Given the description of an element on the screen output the (x, y) to click on. 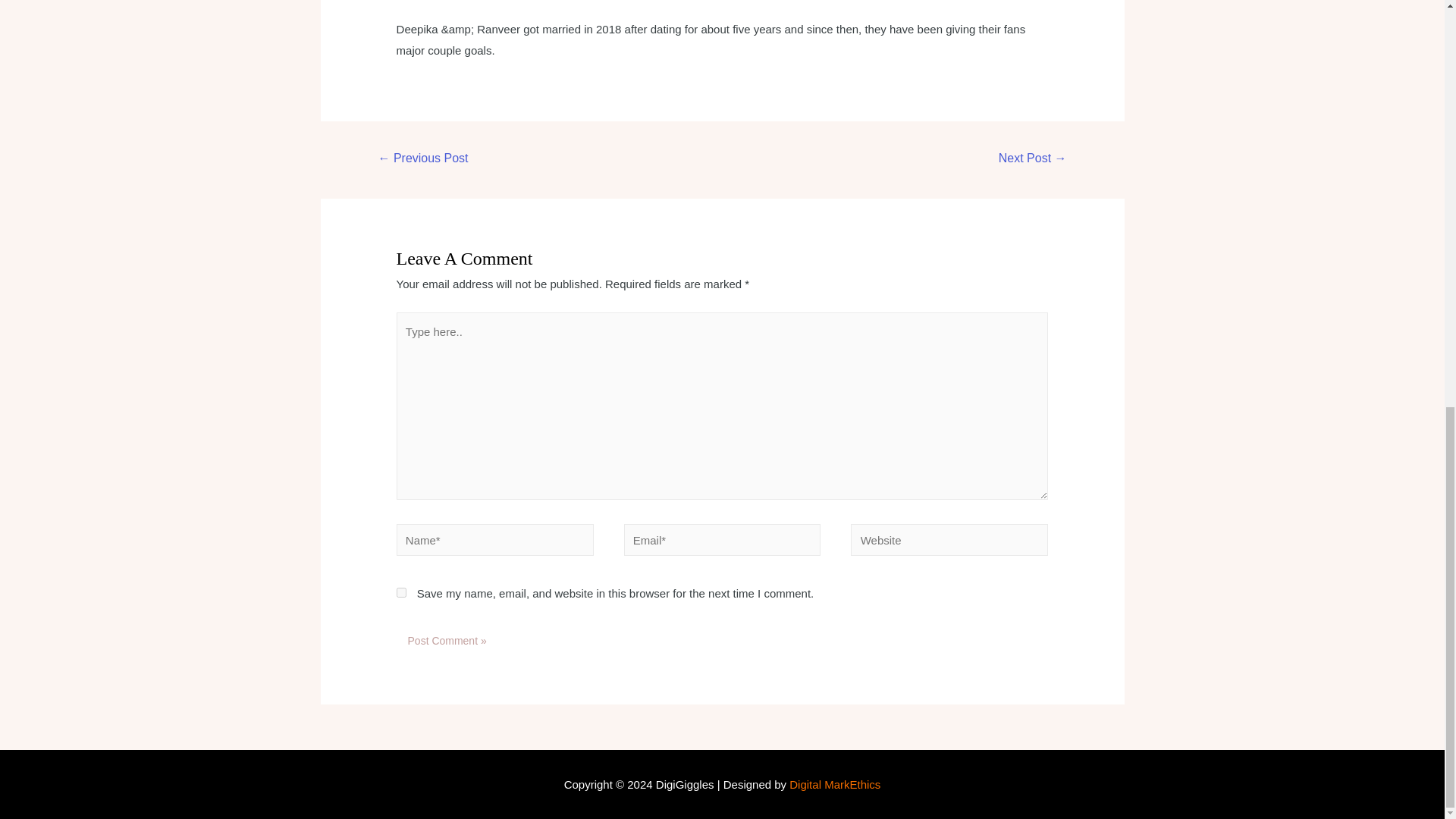
yes (401, 592)
